Given the description of an element on the screen output the (x, y) to click on. 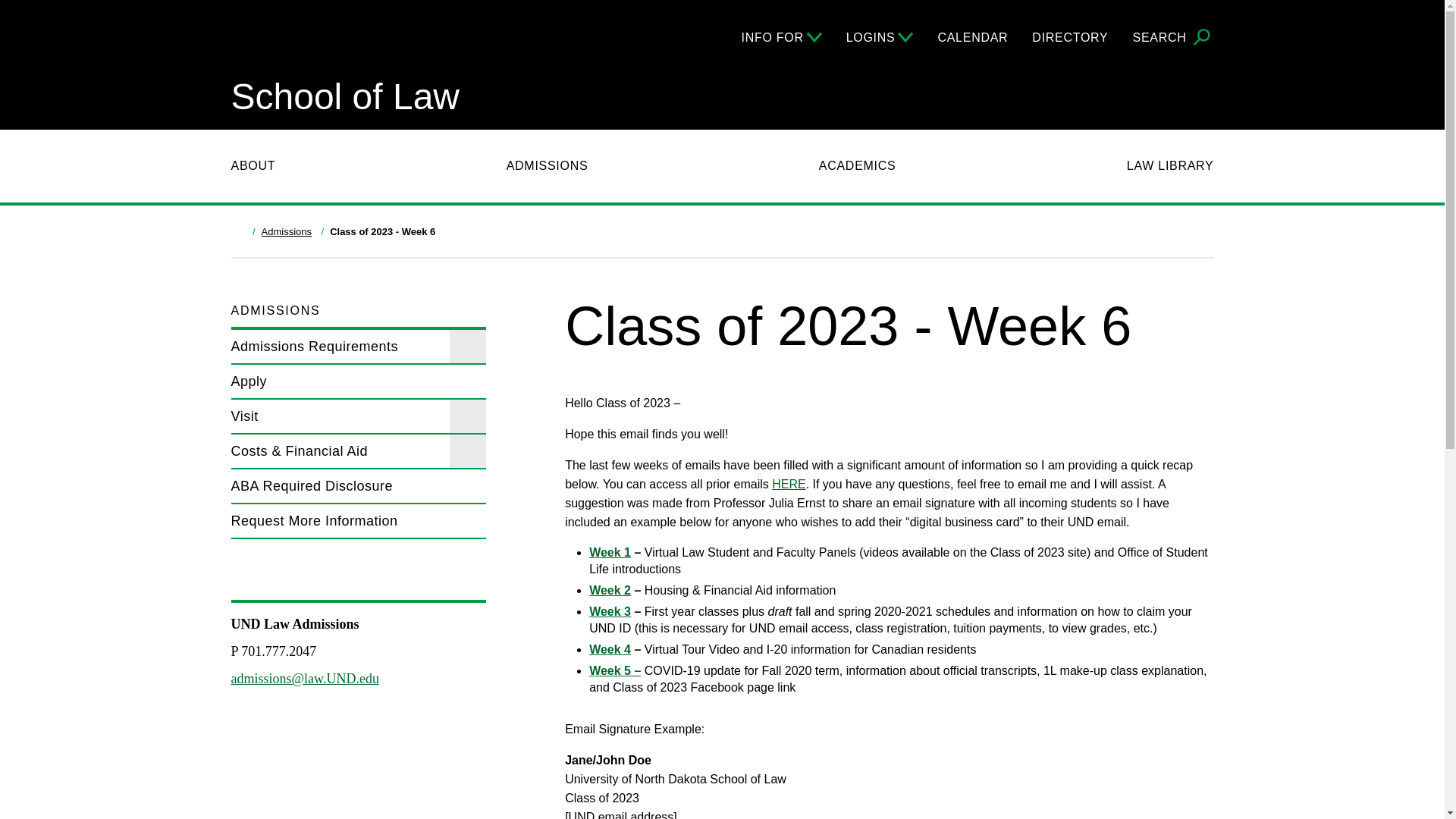
School of Law (345, 96)
ADMISSIONS (547, 165)
ABOUT (252, 165)
INFO FOR (781, 37)
DIRECTORY (1070, 37)
SEARCH (1173, 37)
CALENDAR (972, 37)
LOGINS (879, 37)
ACADEMICS (857, 165)
LAW LIBRARY (1170, 165)
